Given the description of an element on the screen output the (x, y) to click on. 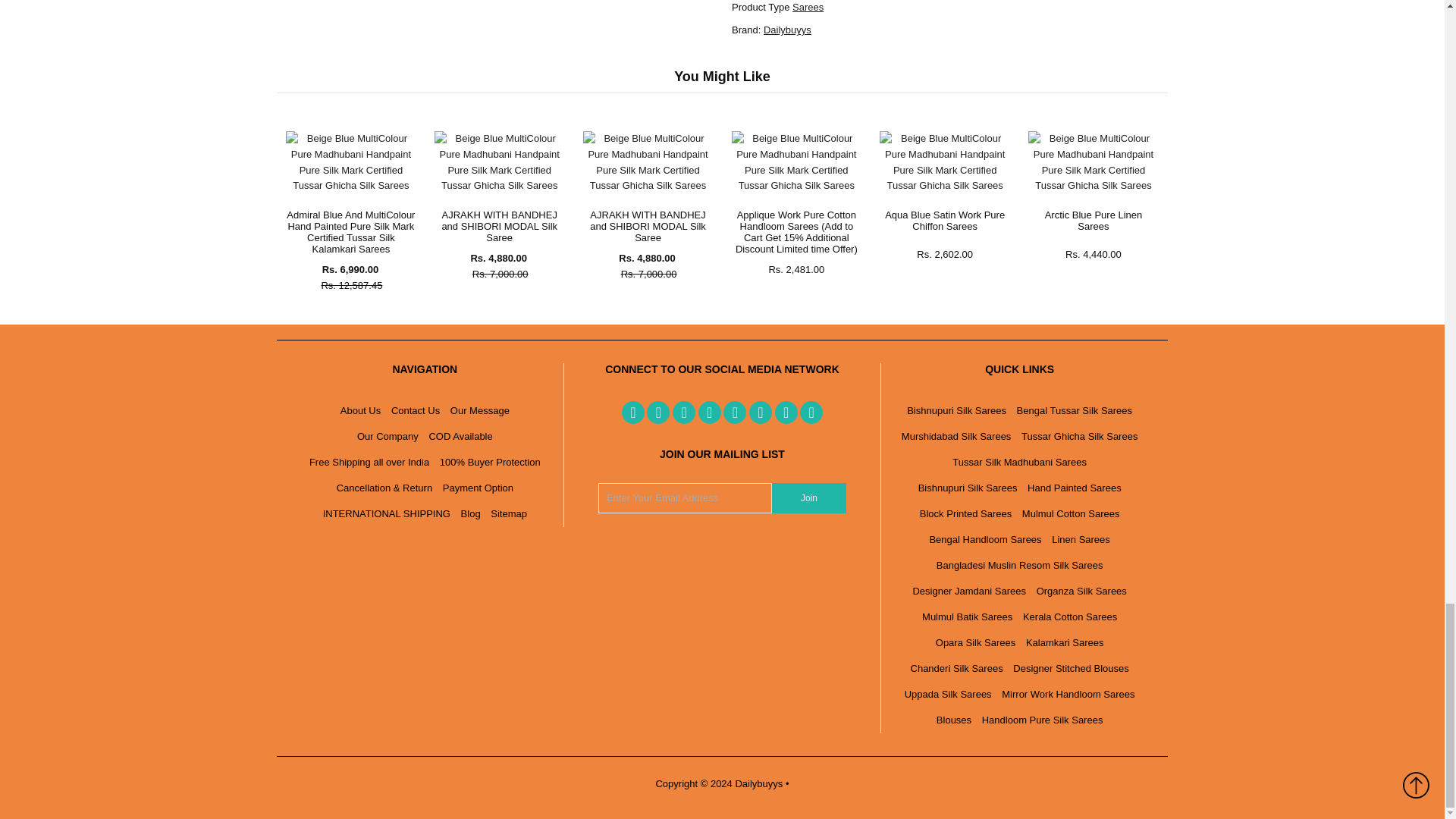
AJRAKH WITH BANDHEJ and SHIBORI MODAL Silk  Saree (648, 184)
Aqua Blue Satin Work Pure Chiffon Sarees (944, 184)
AJRAKH WITH BANDHEJ and SHIBORI MODAL Silk  Saree (498, 184)
Join (808, 498)
Sarees (808, 7)
Dailybuyys (786, 30)
Arctic Blue Pure Linen Sarees (1092, 184)
